Given the description of an element on the screen output the (x, y) to click on. 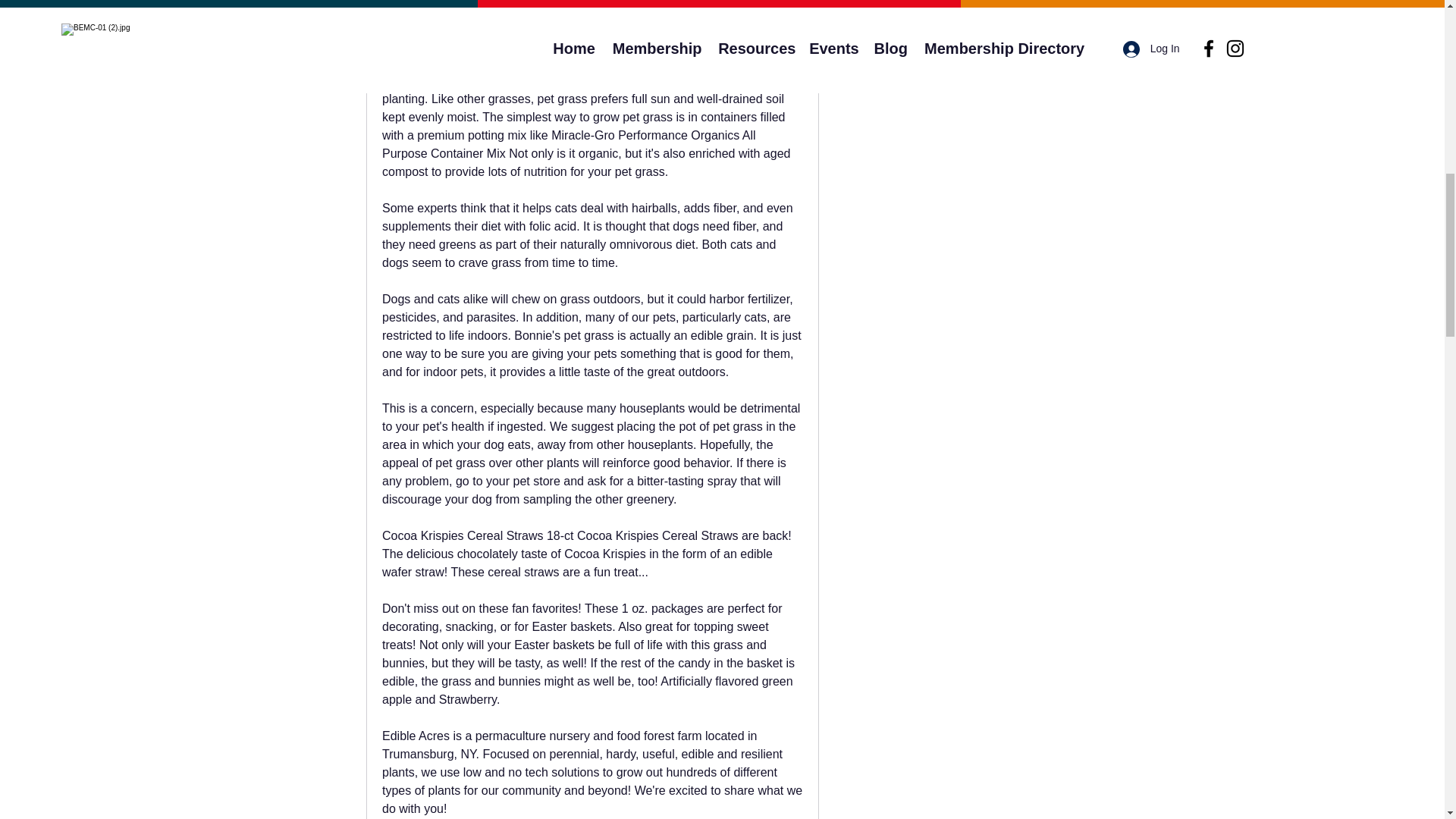
Download (591, 6)
